Given the description of an element on the screen output the (x, y) to click on. 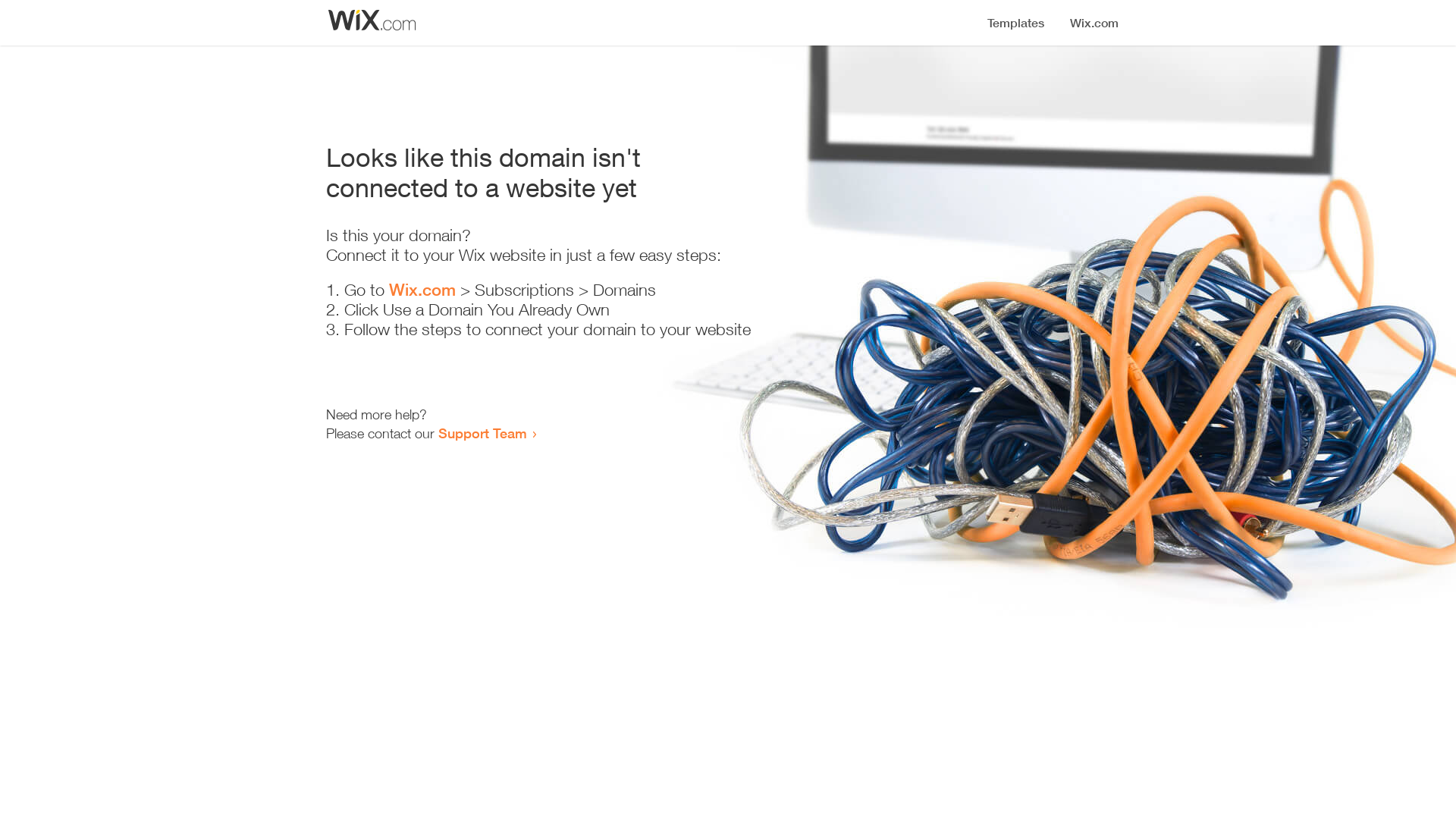
Support Team Element type: text (482, 432)
Wix.com Element type: text (422, 289)
